Given the description of an element on the screen output the (x, y) to click on. 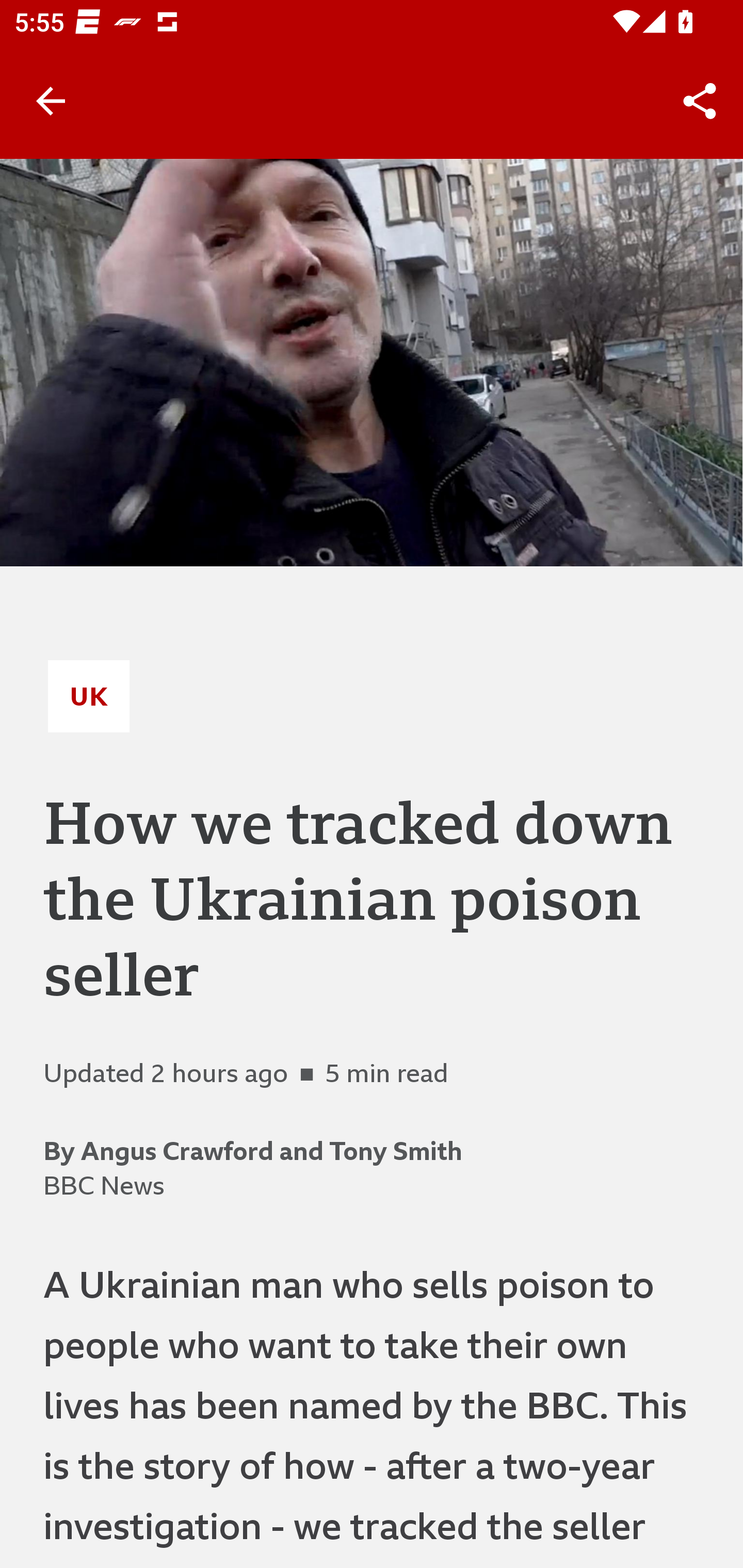
Back (50, 101)
Share (699, 101)
UK (88, 696)
